Given the description of an element on the screen output the (x, y) to click on. 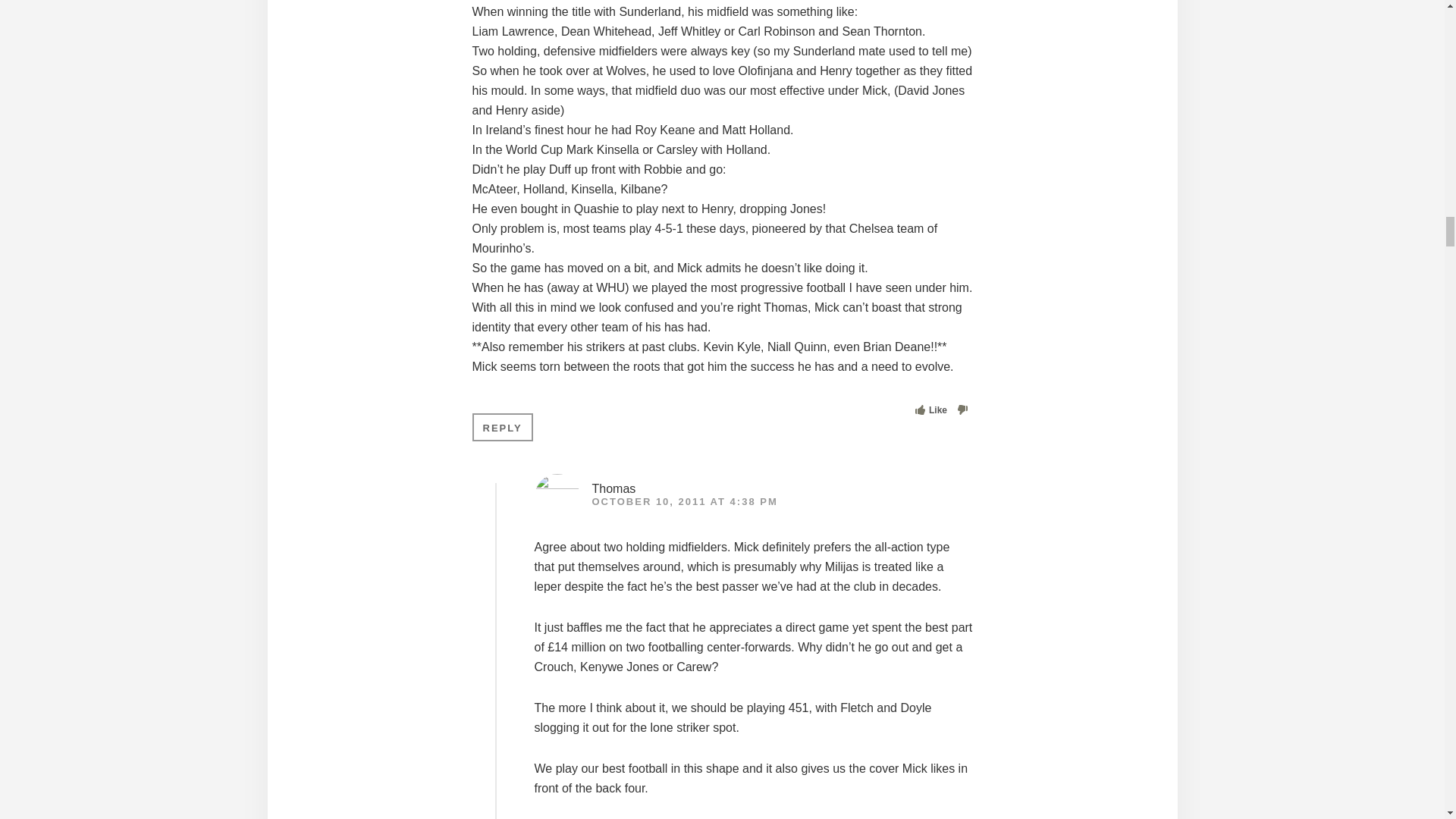
REPLY (501, 427)
OCTOBER 10, 2011 AT 4:38 PM (684, 501)
